Given the description of an element on the screen output the (x, y) to click on. 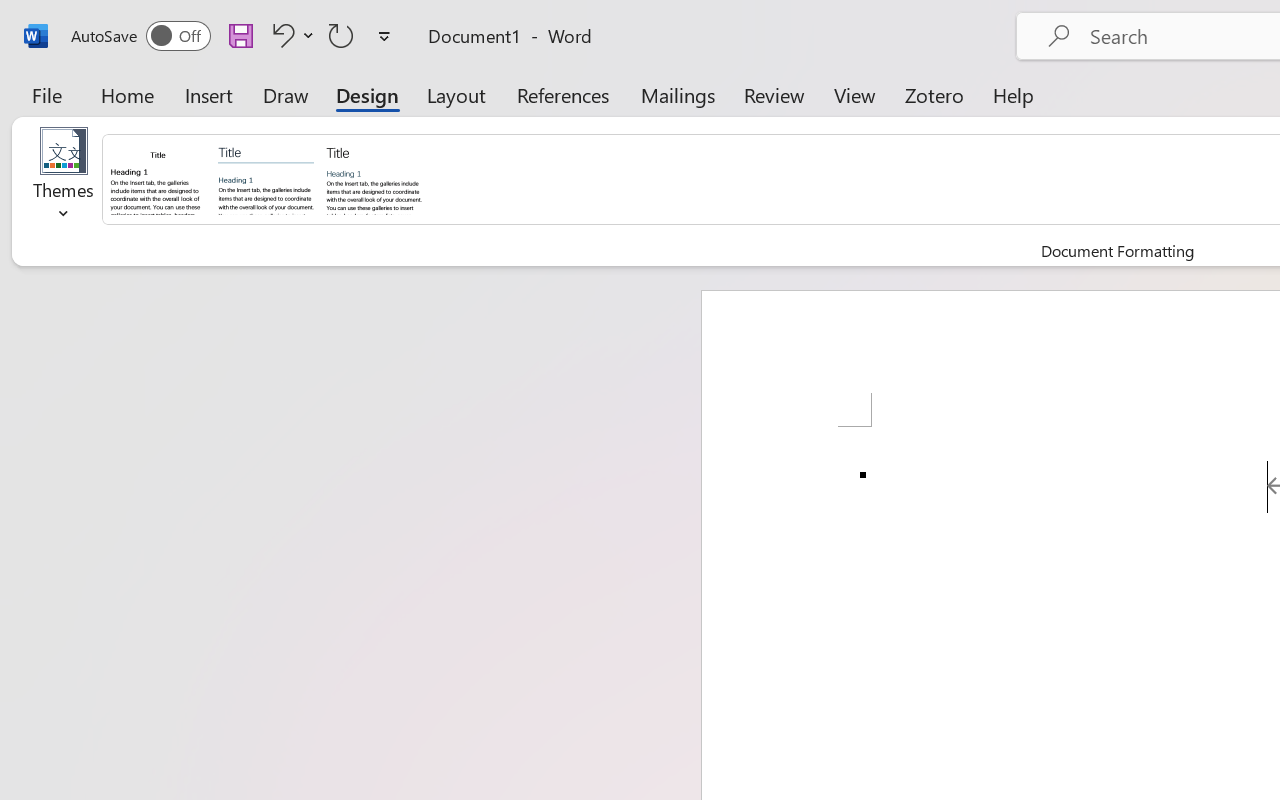
Word 2003 (157, 178)
Repeat Style (341, 35)
Themes (63, 179)
Word 2010 (266, 178)
Word 2013 (373, 178)
